Given the description of an element on the screen output the (x, y) to click on. 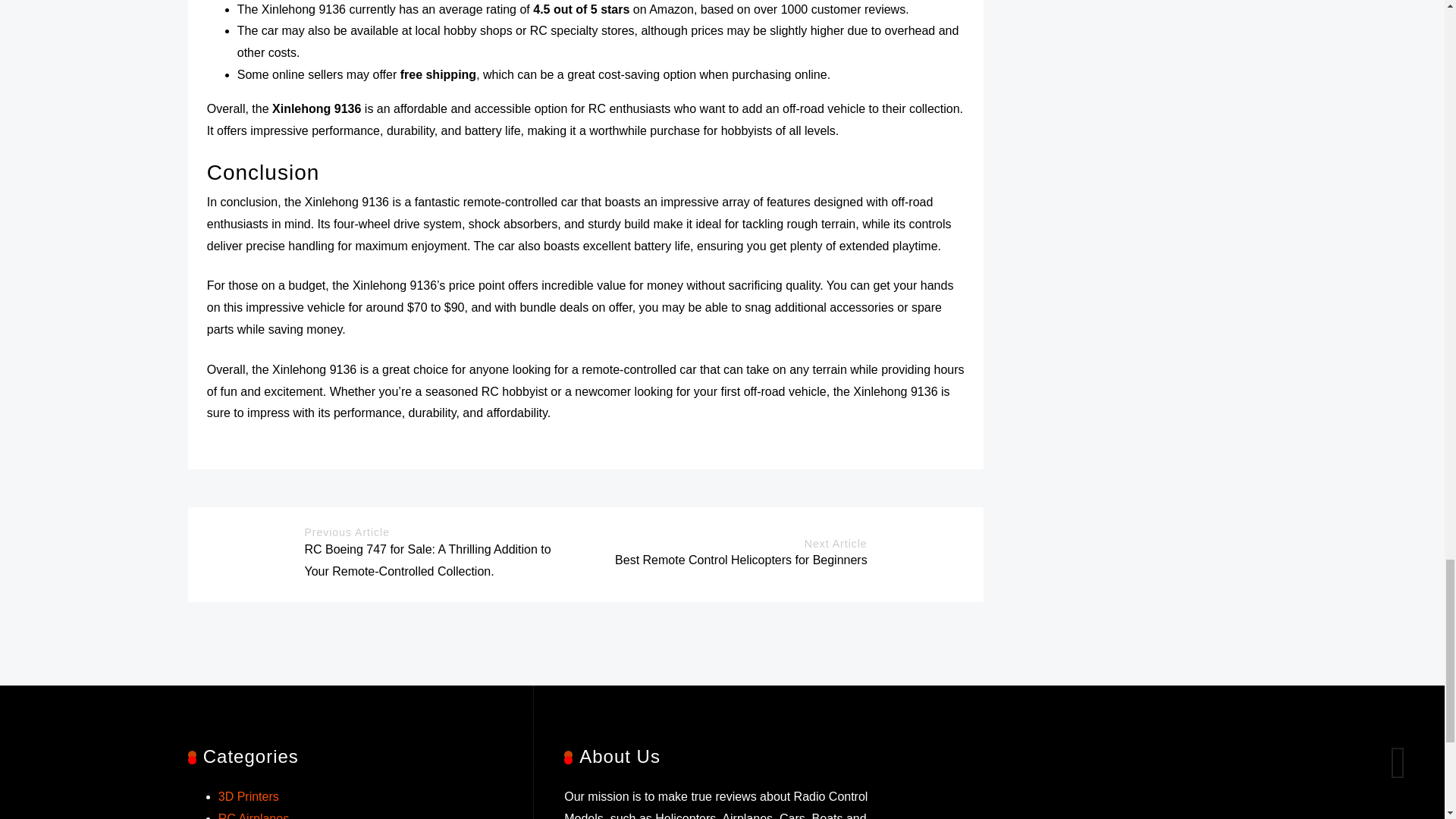
Best Remote Control Helicopters for Beginners (740, 559)
3D Printers (248, 796)
RC Airplanes (253, 815)
